Given the description of an element on the screen output the (x, y) to click on. 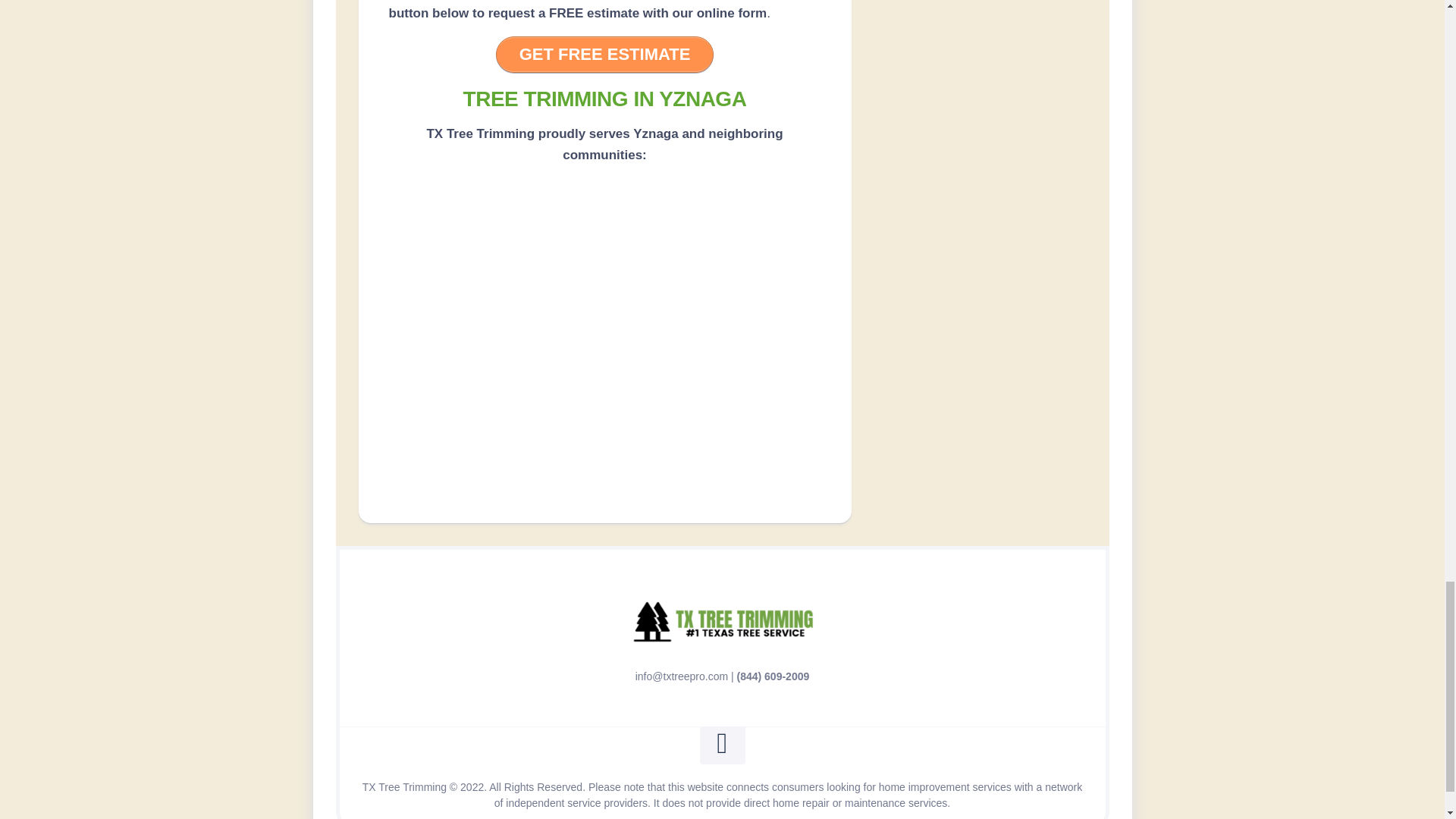
GET FREE ESTIMATE (605, 54)
